Given the description of an element on the screen output the (x, y) to click on. 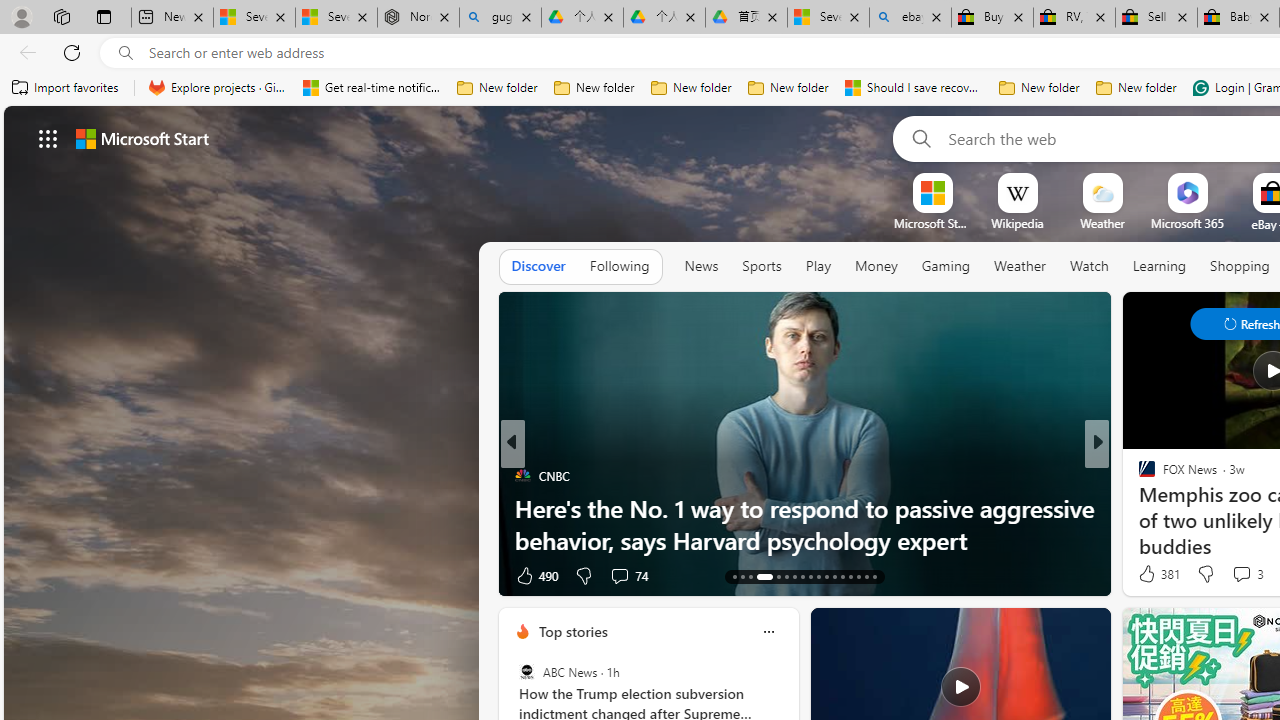
43 Like (1149, 574)
View comments 100 Comment (1241, 574)
News (701, 265)
View comments 4 Comment (1234, 575)
AutomationID: tab-22 (818, 576)
Sports (761, 267)
Buy Auto Parts & Accessories | eBay (992, 17)
Time (1138, 475)
AutomationID: tab-13 (733, 576)
View comments 10 Comment (1229, 575)
AutomationID: waffle (47, 138)
